Given the description of an element on the screen output the (x, y) to click on. 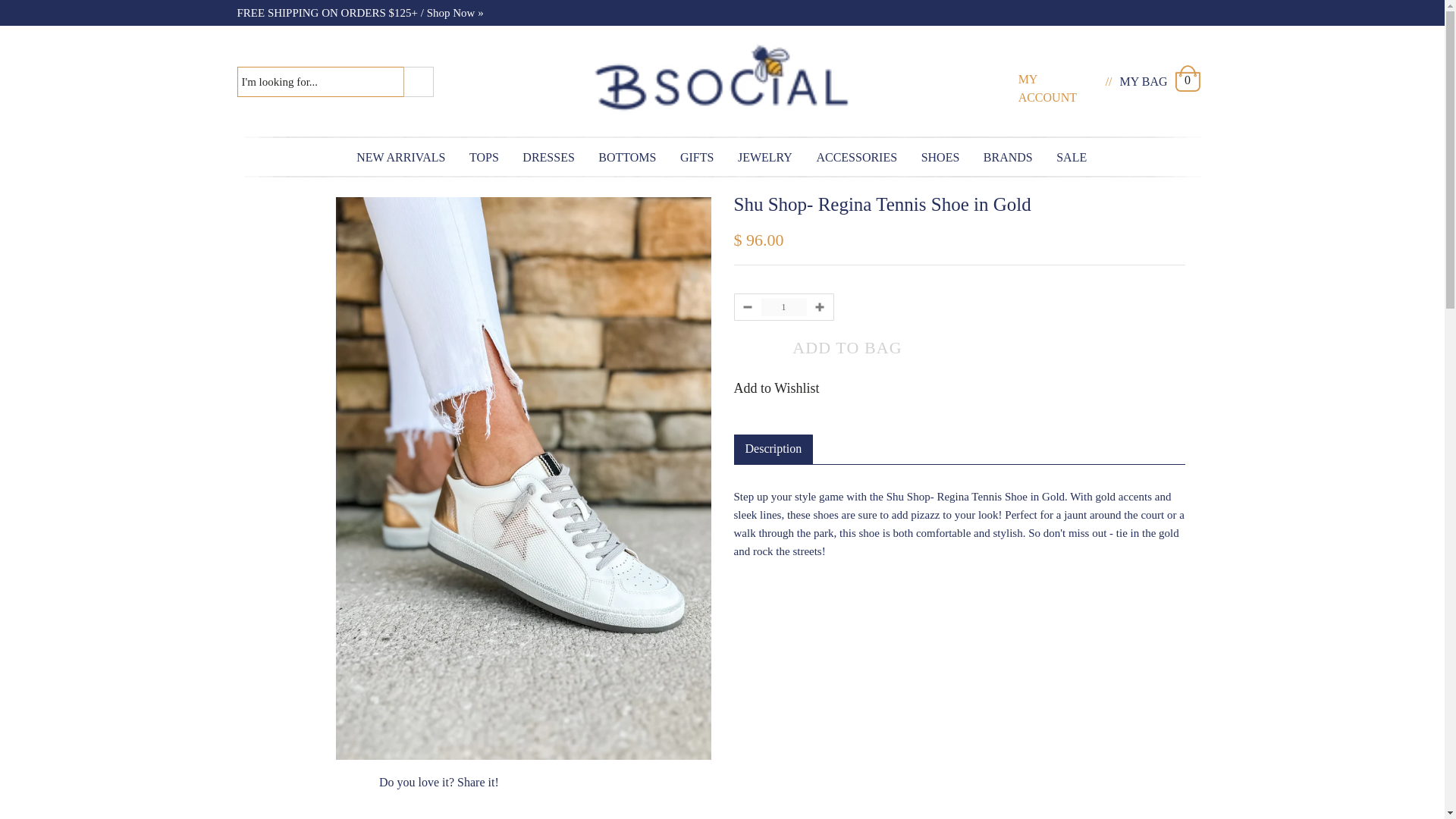
MY ACCOUNT (1047, 88)
DRESSES (548, 157)
My Account (1047, 88)
TOPS (484, 157)
GIFTS (697, 157)
1 (783, 307)
NEW ARRIVALS (401, 157)
MY ACCOUNT (1057, 83)
BOTTOMS (627, 157)
